Given the description of an element on the screen output the (x, y) to click on. 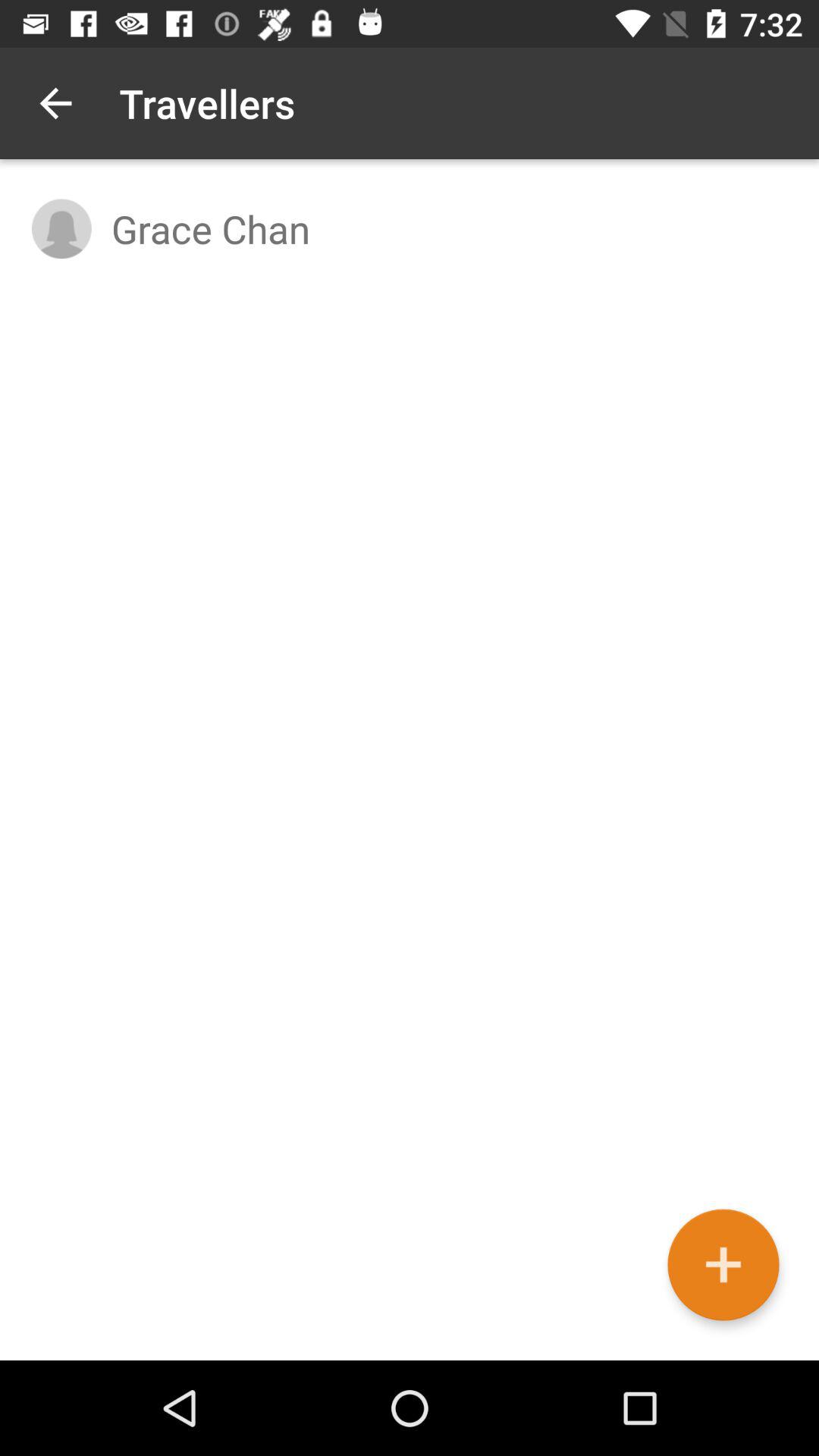
press the icon below the grace chan item (723, 1264)
